Given the description of an element on the screen output the (x, y) to click on. 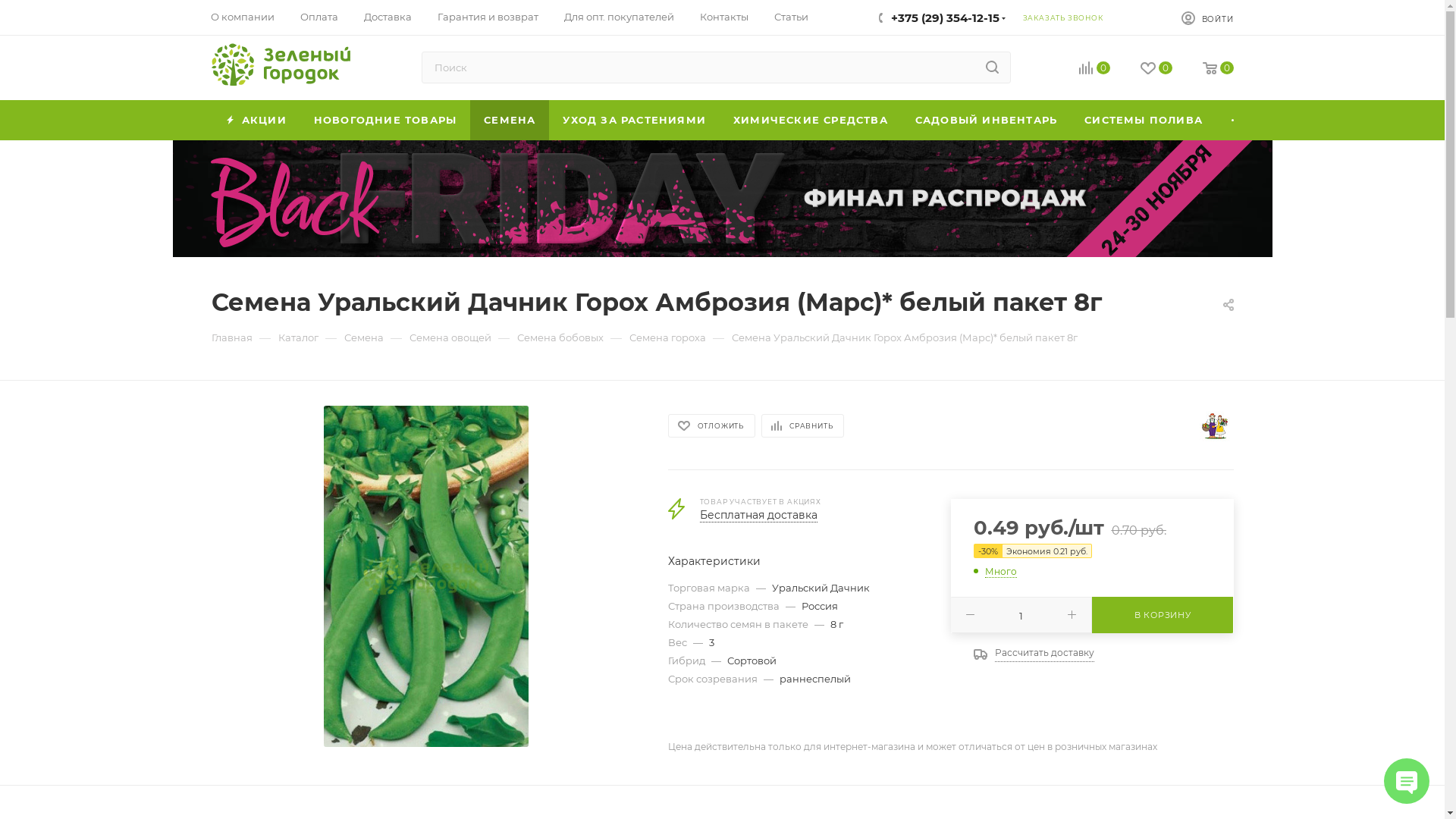
0 Element type: text (1156, 68)
+375 (29) 354-12-15 Element type: text (944, 17)
0 Element type: text (1217, 68)
0 Element type: text (1093, 68)
